Given the description of an element on the screen output the (x, y) to click on. 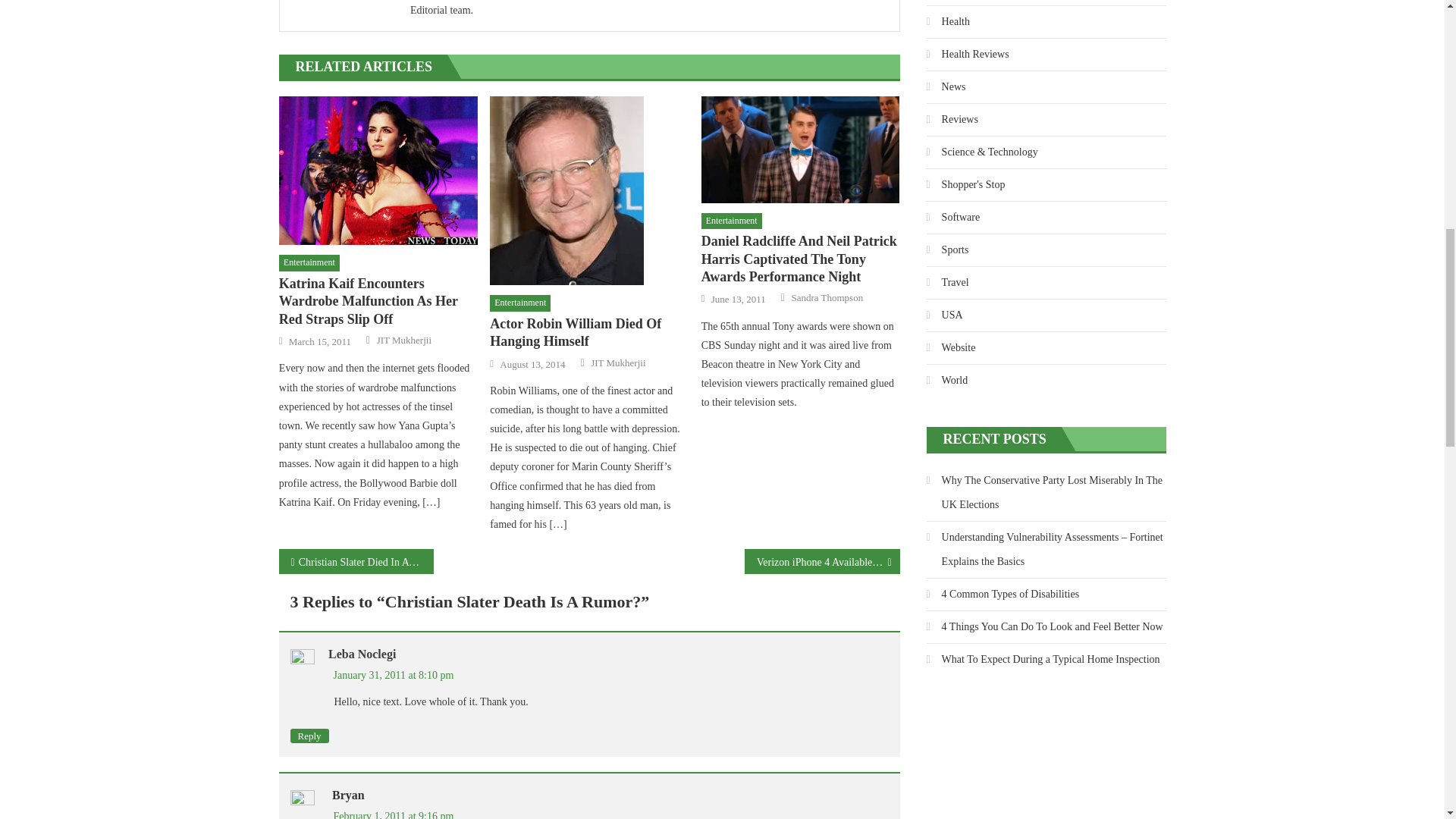
JIT Mukherjii (403, 340)
August 13, 2014 (531, 364)
March 15, 2011 (319, 341)
Christian Slater Died In A Snowboard Accident (356, 561)
JIT Mukherjii (618, 363)
Actor Robin William Died Of Hanging Himself (588, 333)
June 13, 2011 (738, 299)
Entertainment (731, 221)
